Given the description of an element on the screen output the (x, y) to click on. 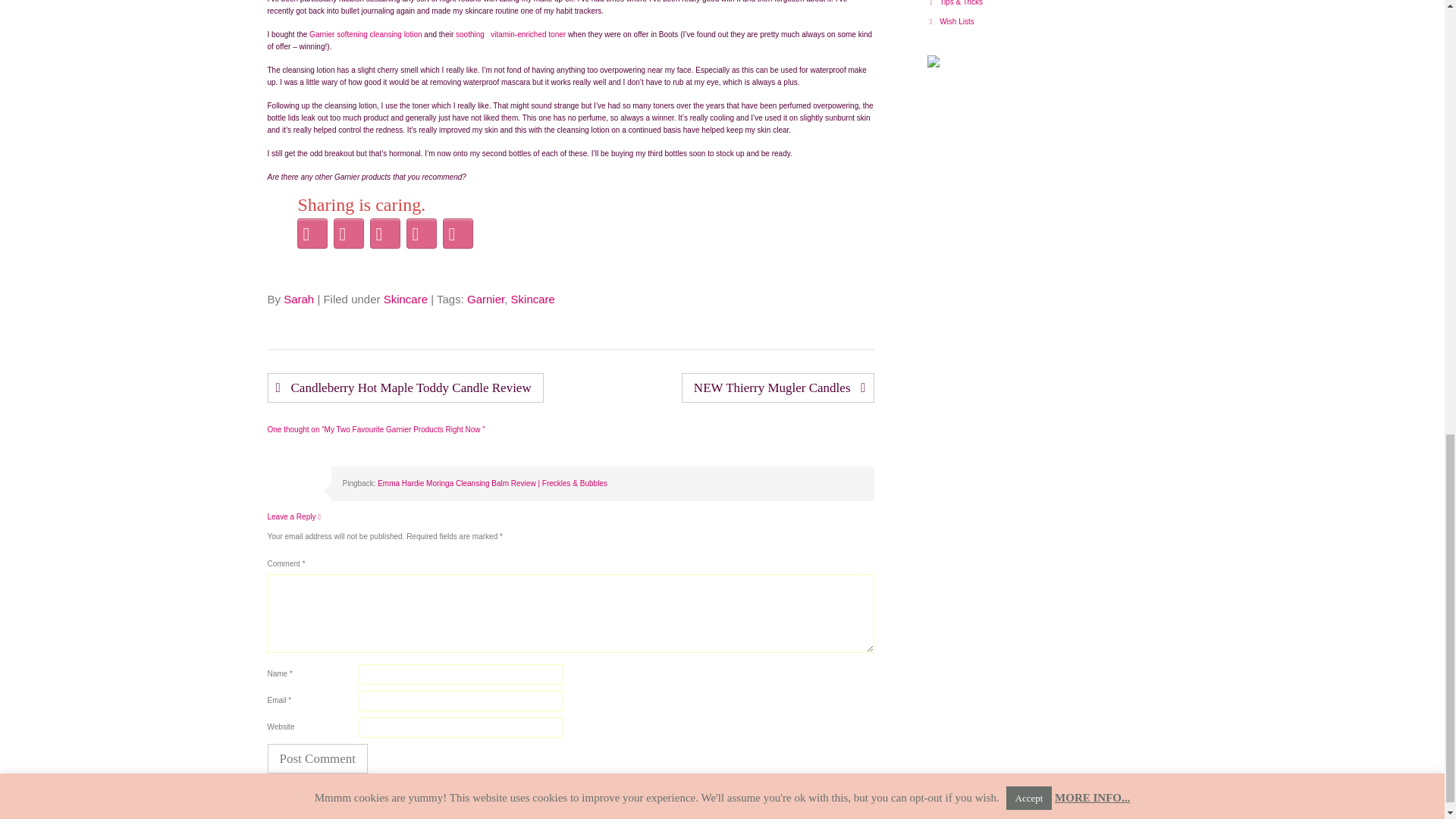
Post Comment (317, 758)
Skincare (532, 298)
Sarah (298, 298)
soothing   vitamin-enriched toner (510, 34)
Facebook (348, 233)
Candleberry Hot Maple Toddy Candle Review (404, 387)
Pinterest (384, 233)
Garnier (485, 298)
Garnier softening cleansing lotion (365, 34)
More Options (457, 233)
